Given the description of an element on the screen output the (x, y) to click on. 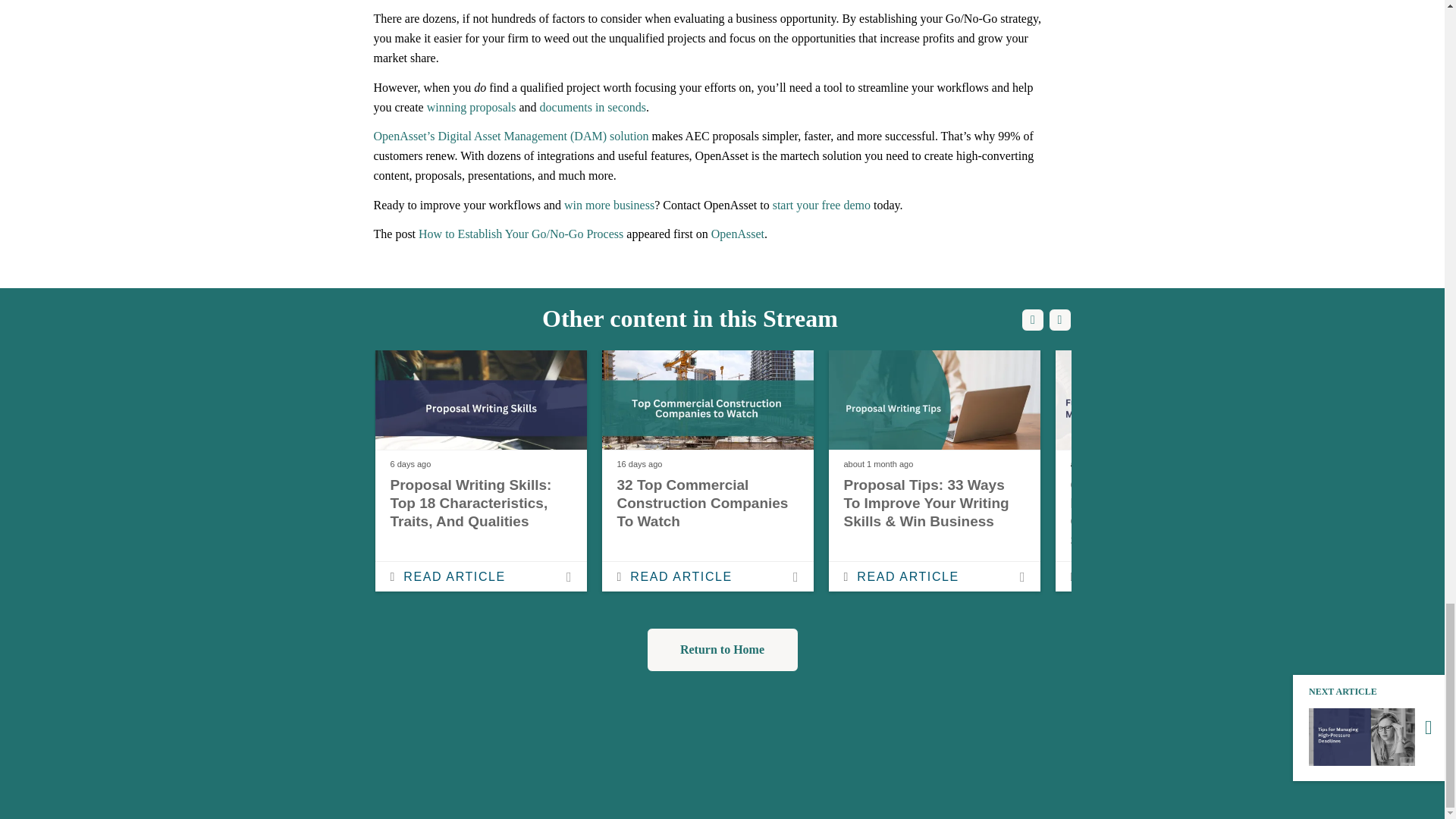
documents in seconds (593, 106)
OpenAsset (737, 233)
start your free demo (821, 205)
win more business (608, 205)
winning proposals (471, 106)
Show previous (1032, 319)
Show next (1059, 319)
